Given the description of an element on the screen output the (x, y) to click on. 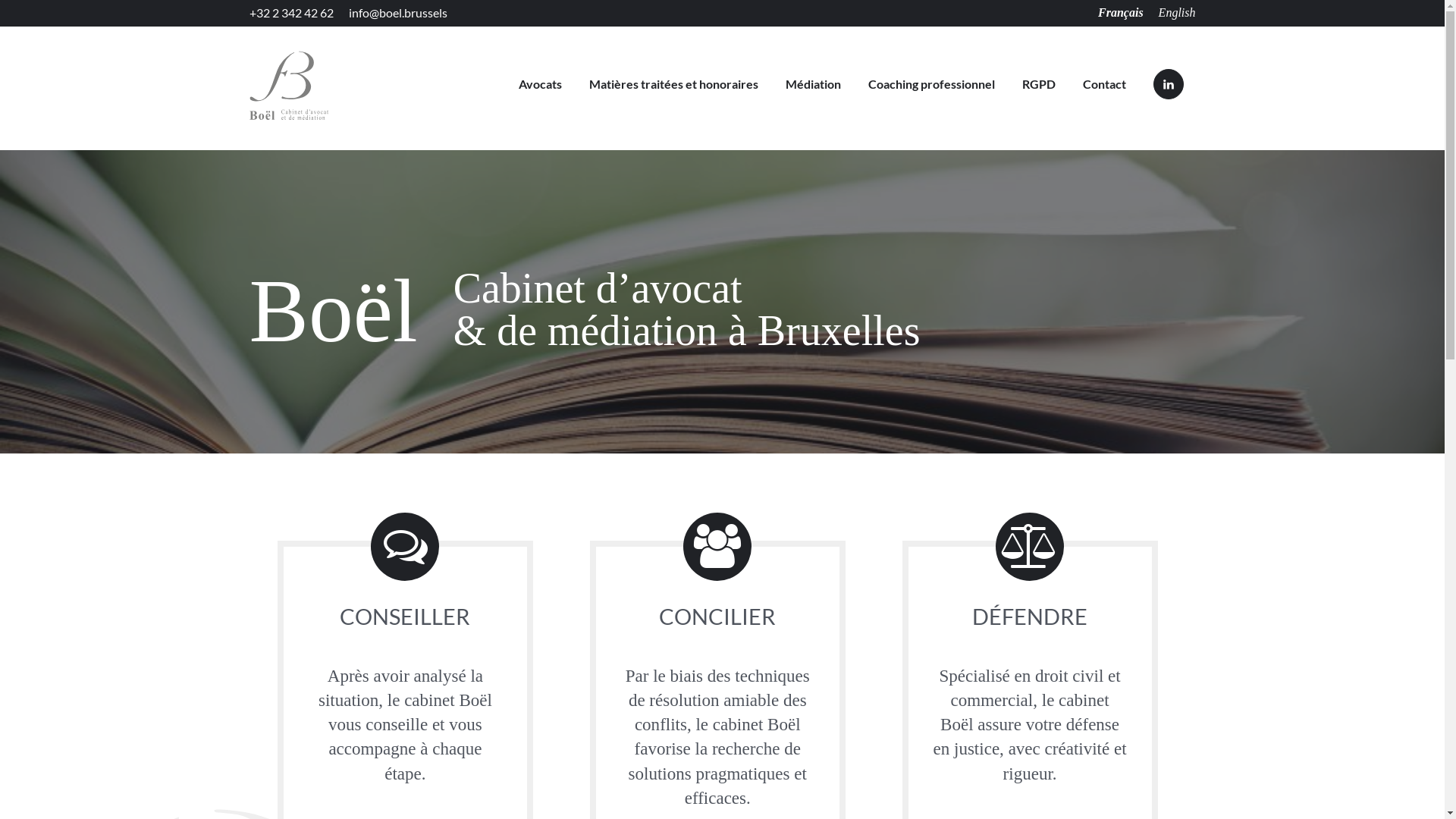
RGPD Element type: text (1038, 84)
Coaching professionnel Element type: text (930, 84)
Avocats Element type: text (539, 84)
info@boel.brussels Element type: text (397, 12)
+32 2 342 42 62 Element type: text (290, 12)
Contact Element type: text (1104, 84)
mon profil LinkedIn Element type: text (1167, 84)
English Element type: text (1176, 12)
